Given the description of an element on the screen output the (x, y) to click on. 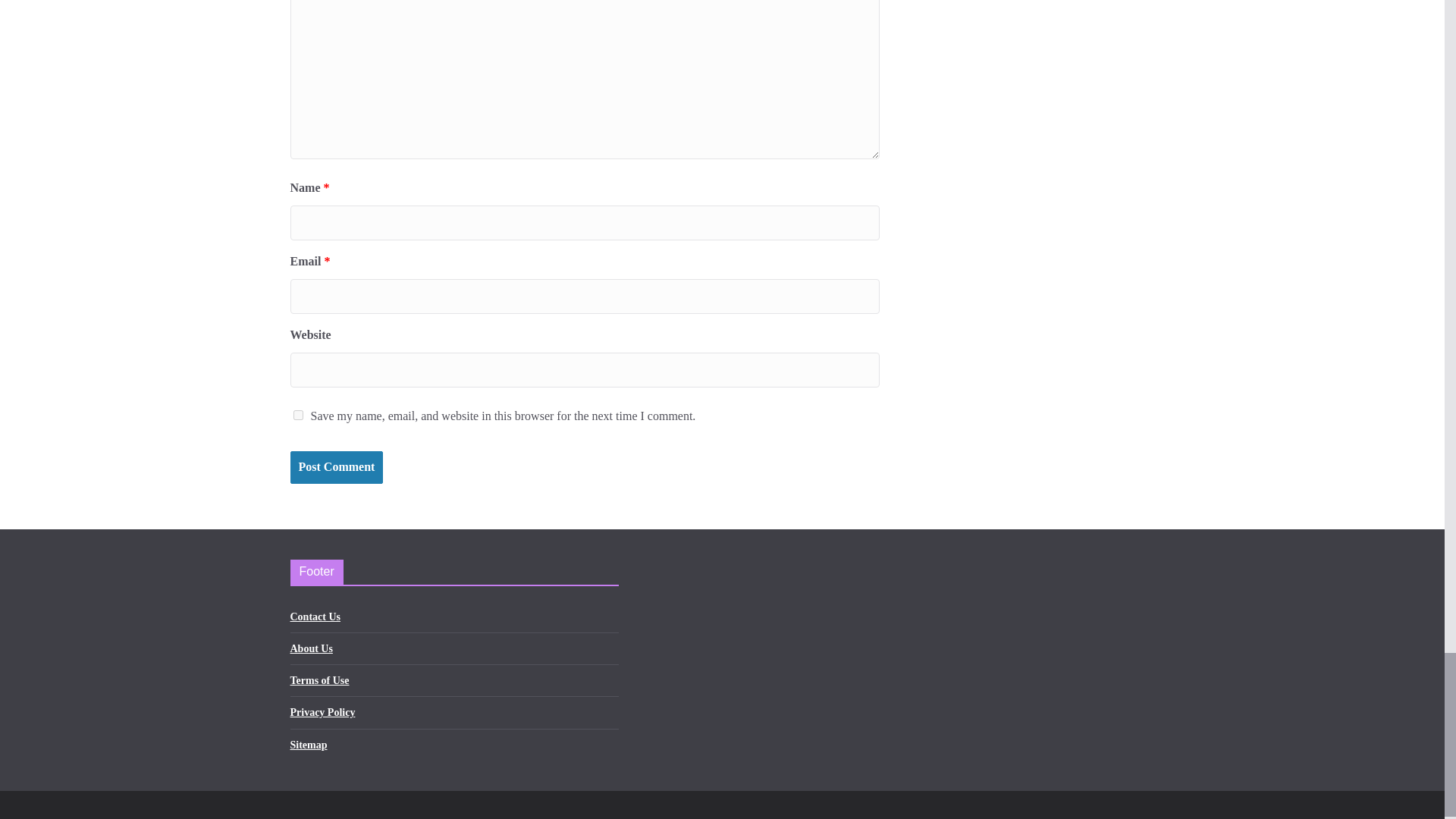
Post Comment (335, 467)
yes (297, 415)
Post Comment (335, 467)
